Given the description of an element on the screen output the (x, y) to click on. 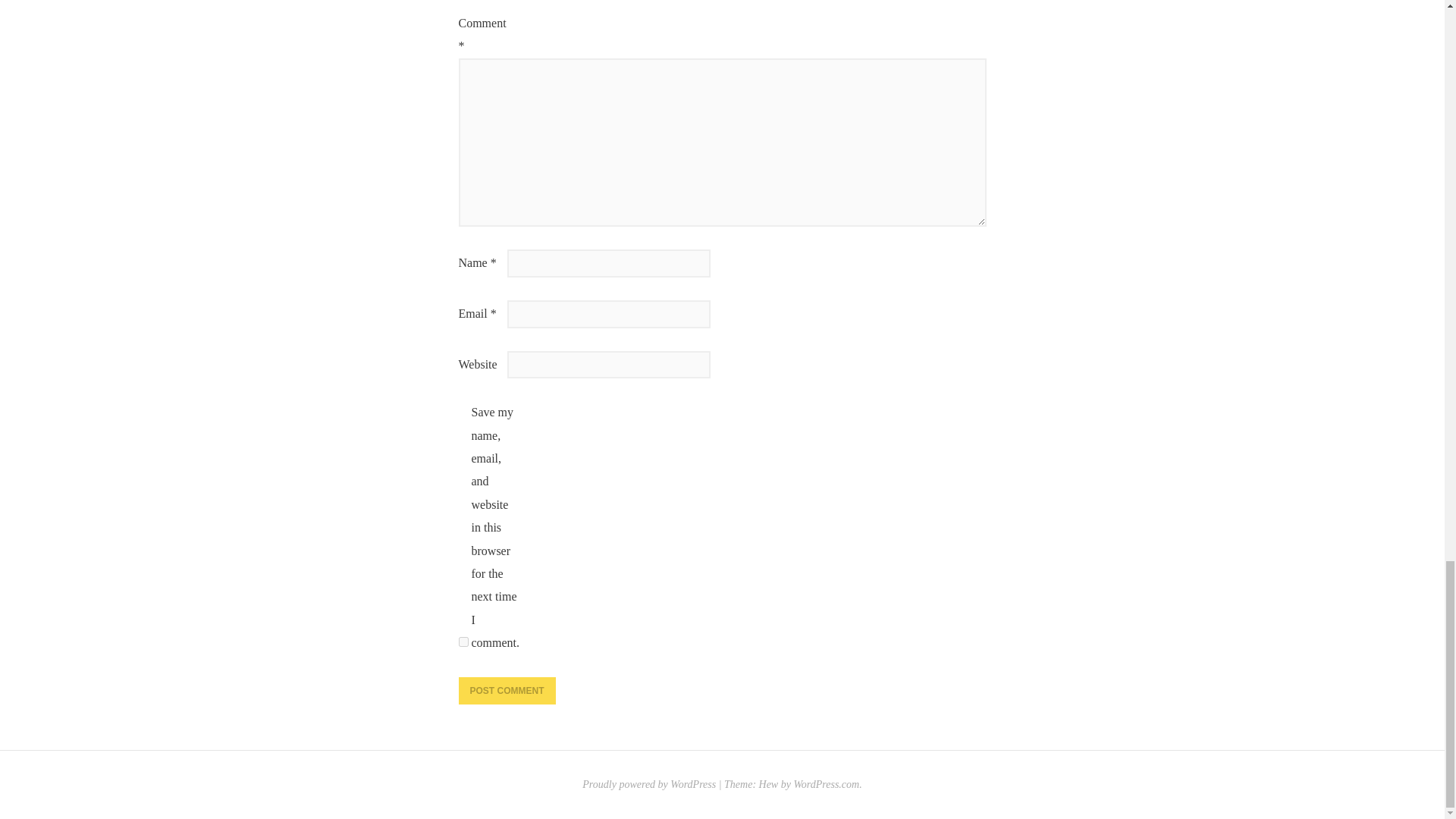
yes (462, 642)
Post Comment (506, 690)
Post Comment (506, 690)
A Semantic Personal Publishing Platform (649, 784)
Proudly powered by WordPress (649, 784)
WordPress.com (826, 784)
